Given the description of an element on the screen output the (x, y) to click on. 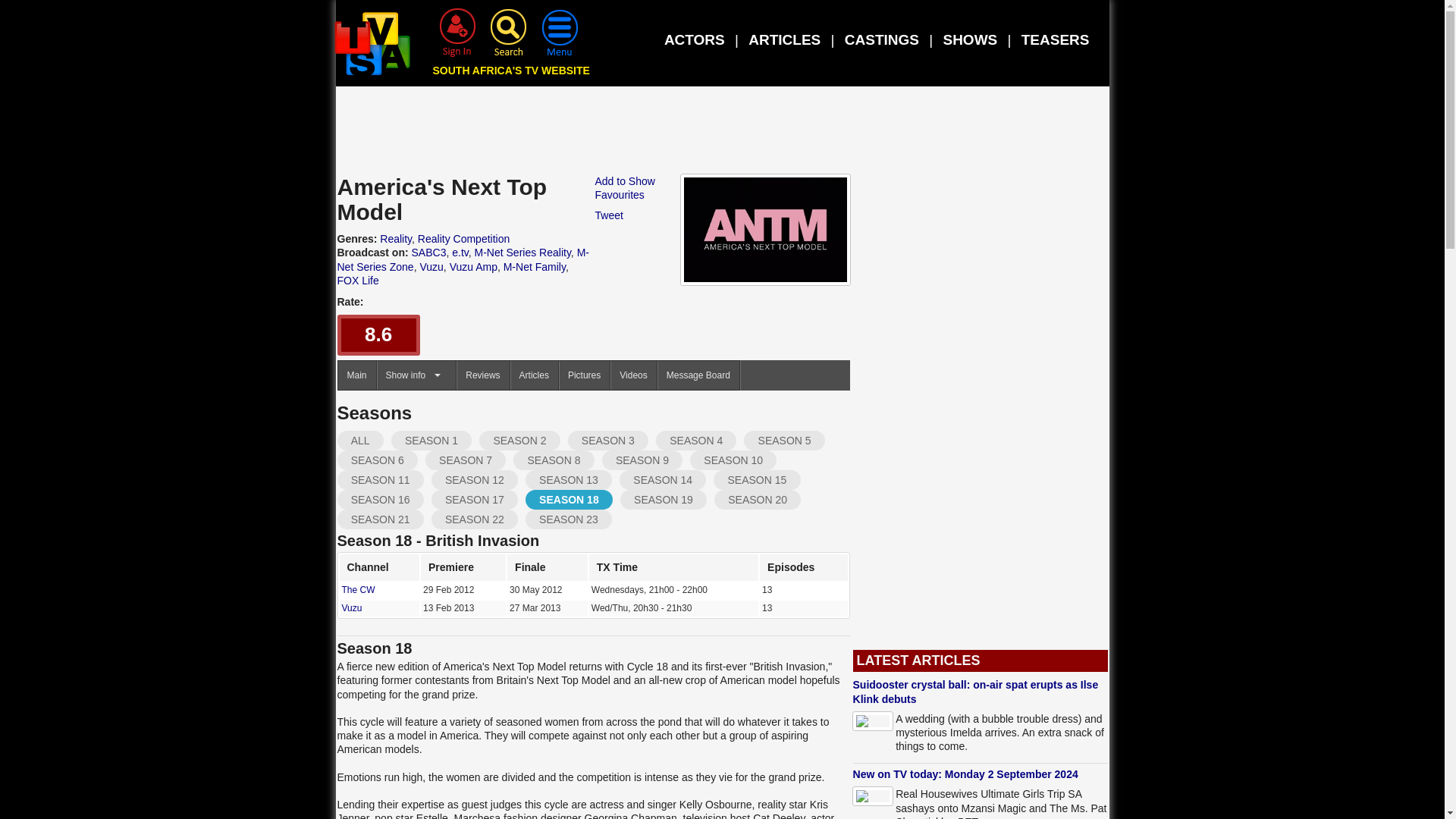
SHOWS (969, 39)
ARTICLES (784, 39)
ACTORS (694, 39)
CASTINGS (881, 39)
Advertisement (722, 133)
TEASERS (1055, 39)
